Given the description of an element on the screen output the (x, y) to click on. 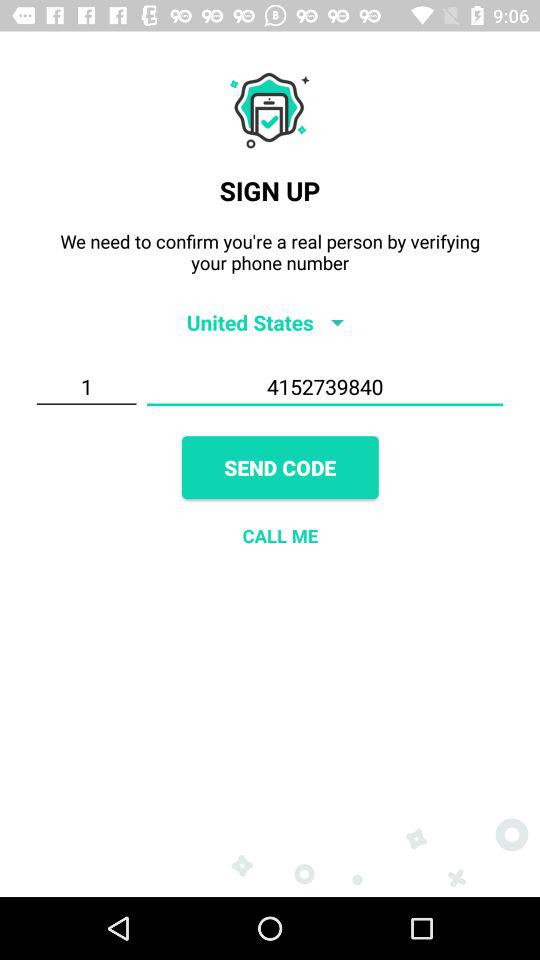
launch item on the left (86, 387)
